Given the description of an element on the screen output the (x, y) to click on. 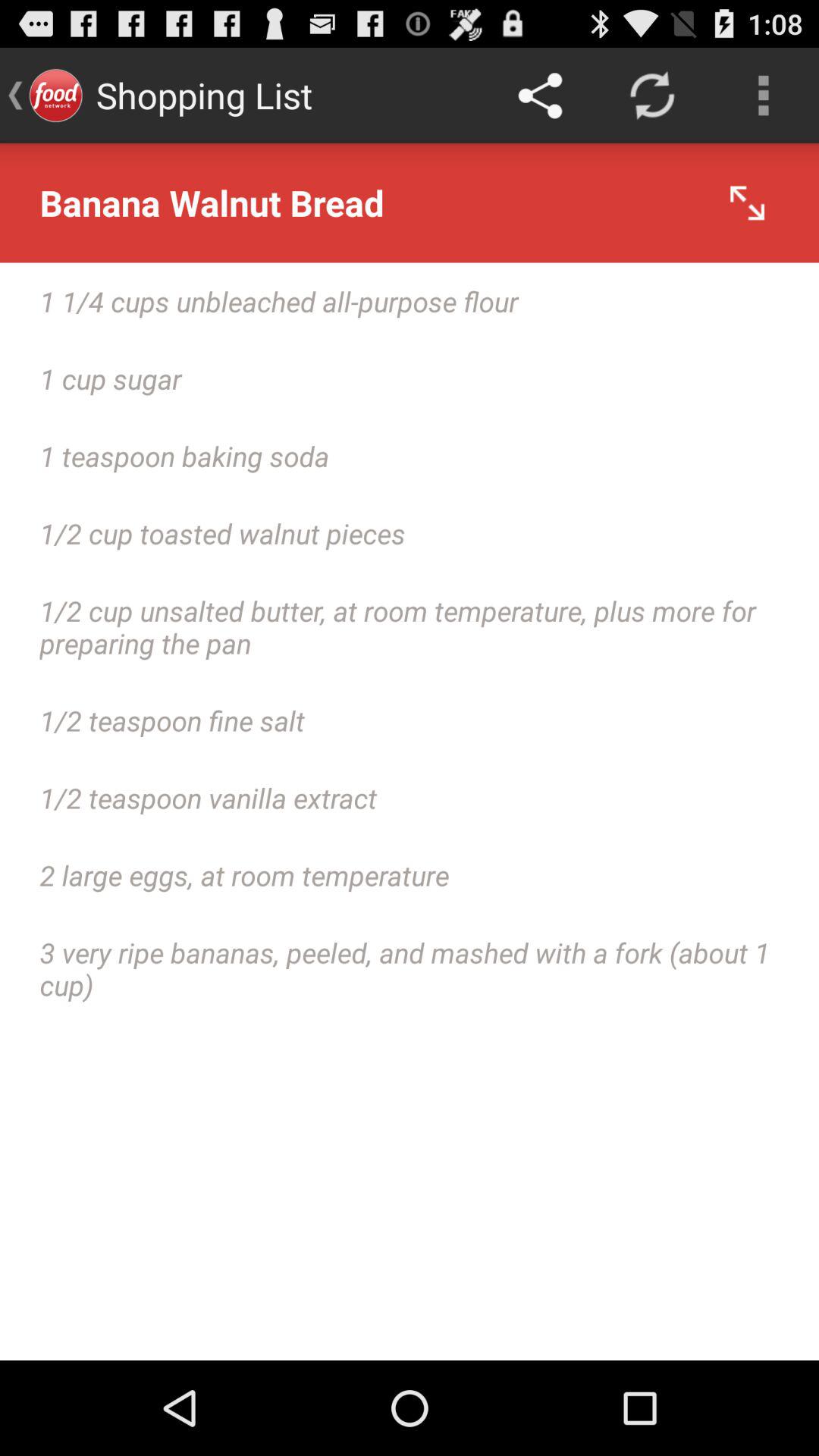
turn off banana walnut bread app (409, 202)
